Given the description of an element on the screen output the (x, y) to click on. 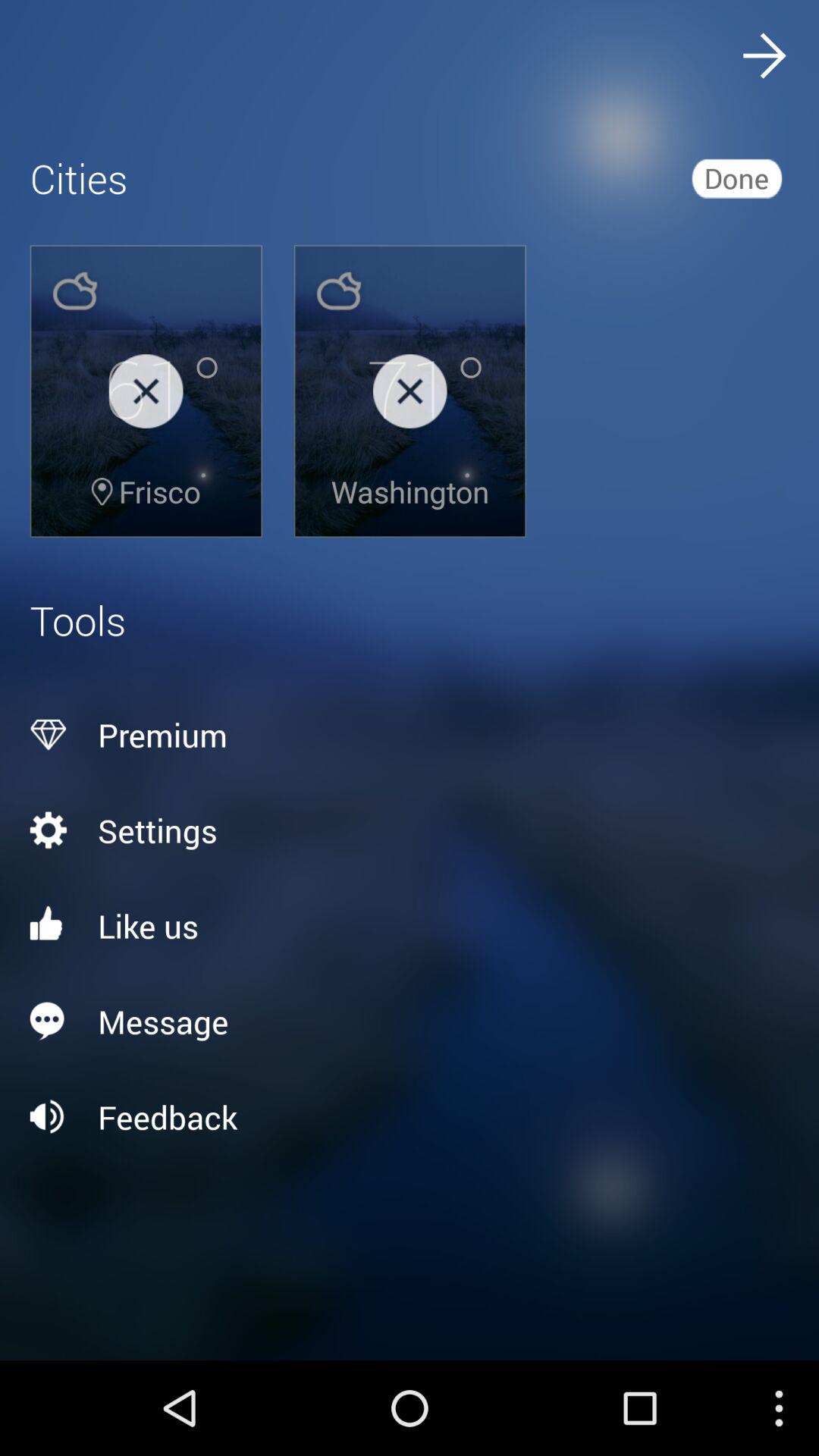
scroll to the like us (409, 925)
